Given the description of an element on the screen output the (x, y) to click on. 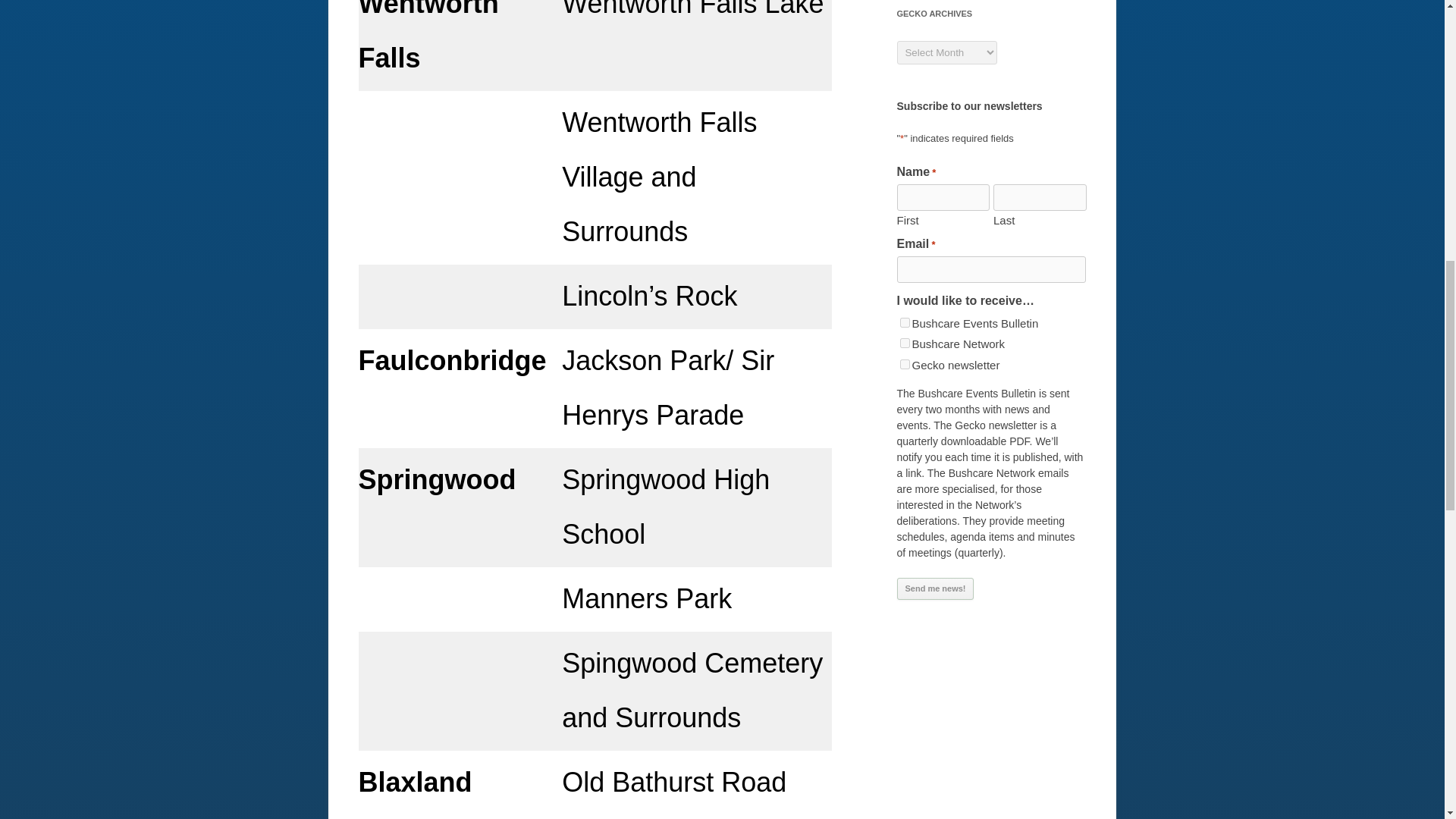
5 (903, 343)
6 (903, 322)
Send me news! (935, 589)
Send me news! (935, 589)
3 (903, 364)
